Given the description of an element on the screen output the (x, y) to click on. 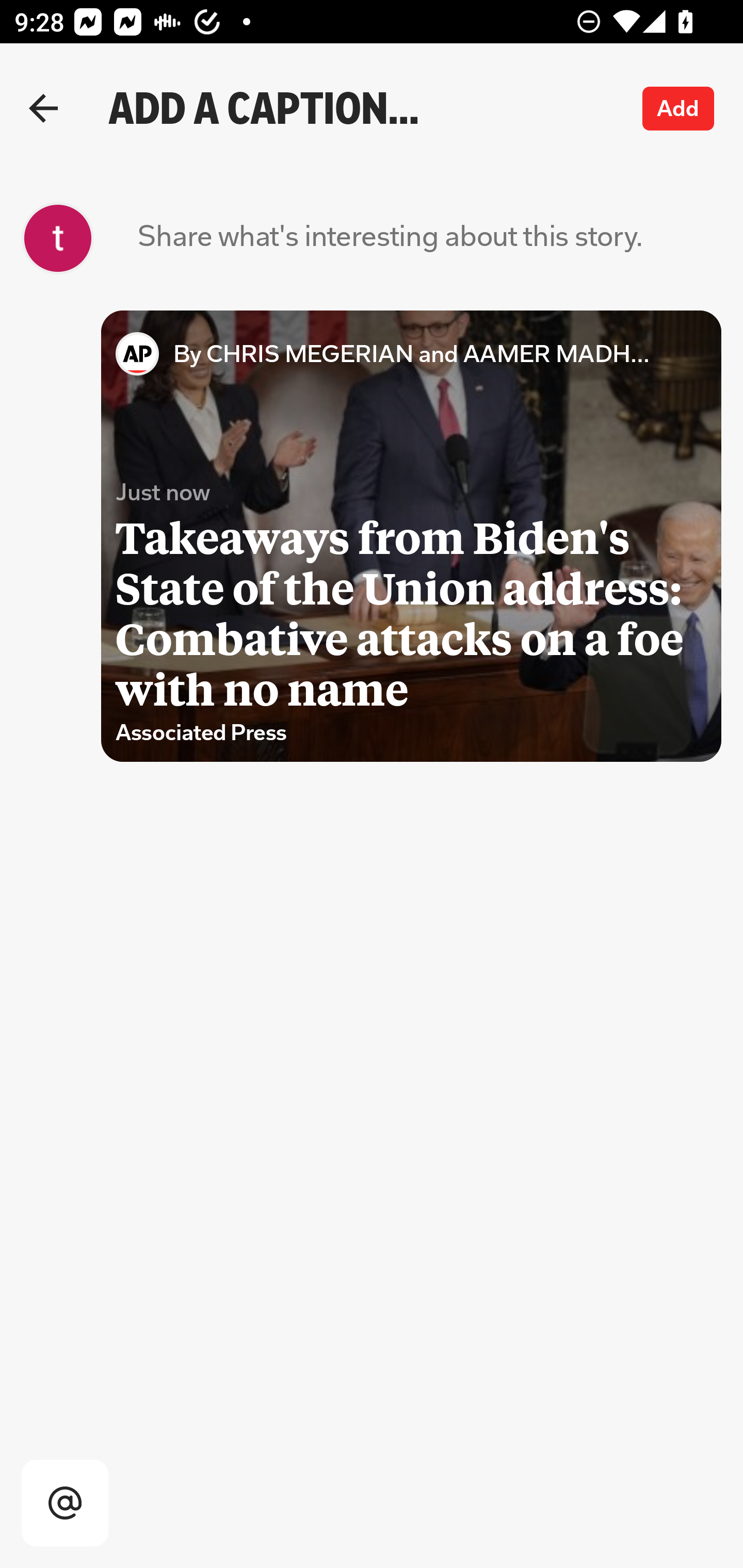
Add (678, 108)
Share what's interesting about this story. (390, 238)
